Given the description of an element on the screen output the (x, y) to click on. 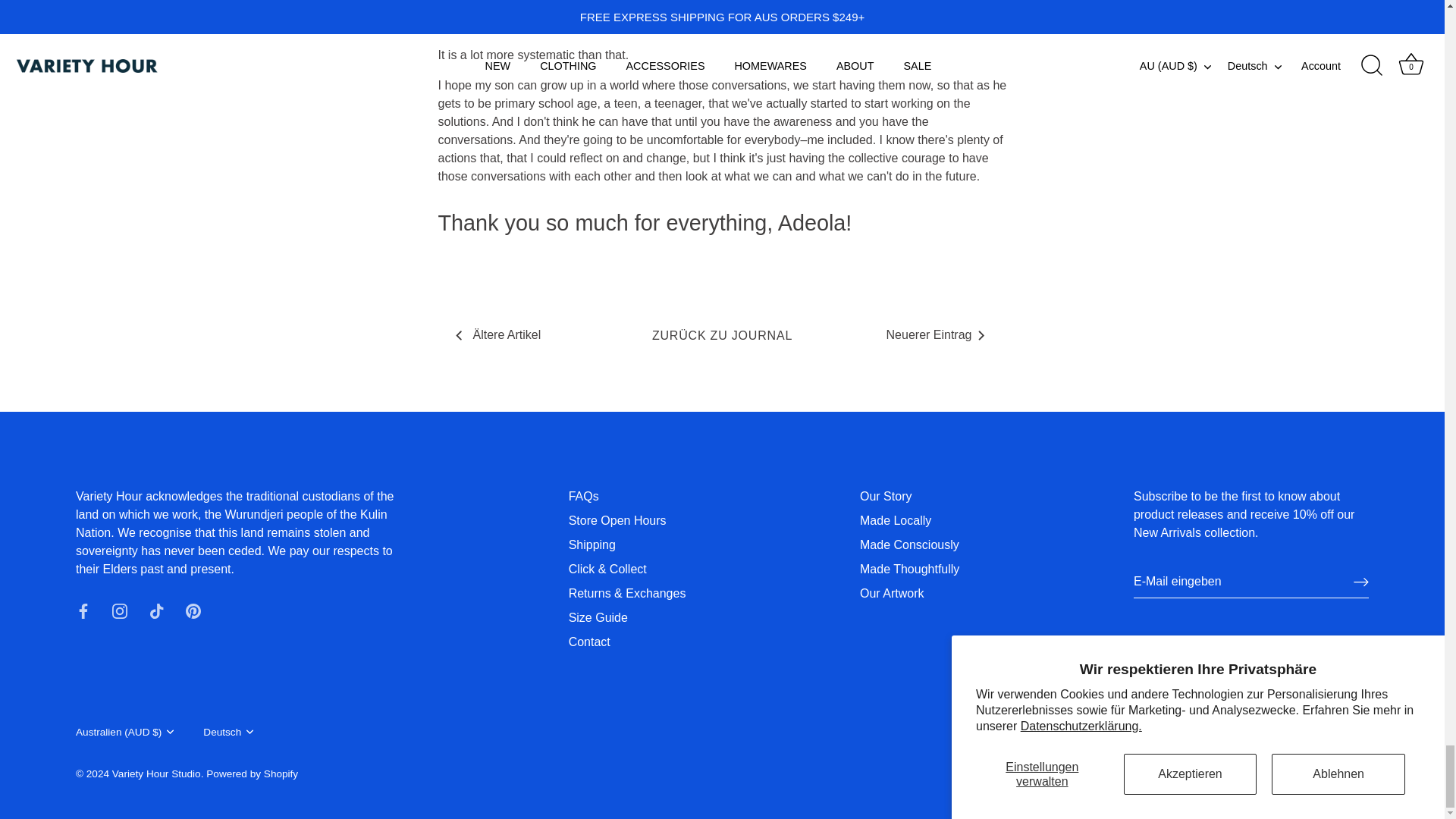
Union Pay (1282, 734)
Google Pay (1138, 734)
Instagram (120, 611)
Visa (1318, 734)
Right arrow long (1361, 581)
Mastercard (1174, 734)
Pinterest (193, 611)
Shop Pay (1246, 734)
American Express (1067, 734)
PayPal (1210, 734)
Apple Pay (1102, 734)
